Given the description of an element on the screen output the (x, y) to click on. 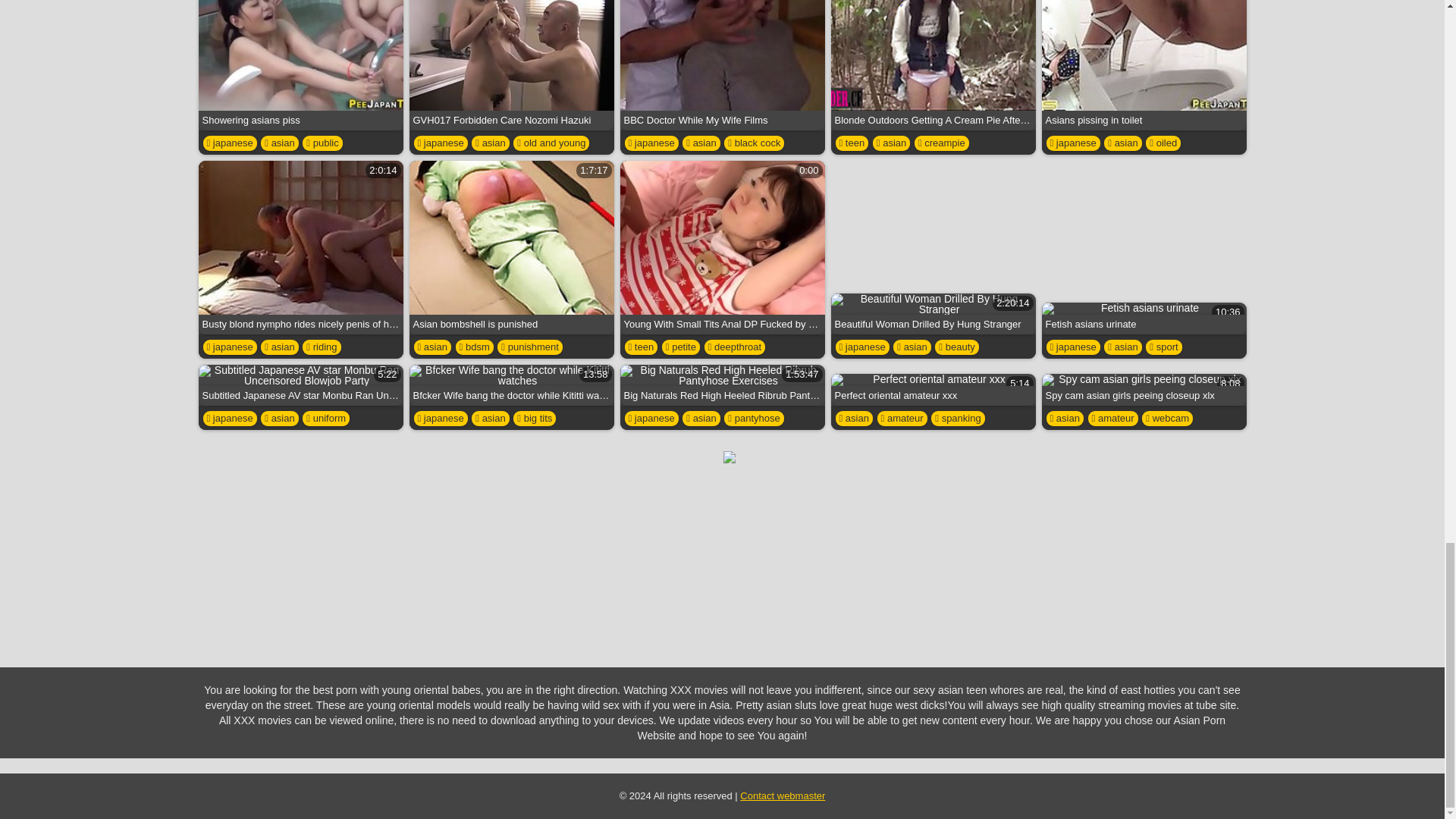
Blonde Outdoors Getting A Cream Pie After Having Sex (933, 65)
Showering asians piss (300, 65)
GVH017 Forbidden Care Nozomi Hazuki (511, 65)
BBC Doctor While My Wife Films (722, 65)
Asians pissing in toilet (1144, 65)
